Given the description of an element on the screen output the (x, y) to click on. 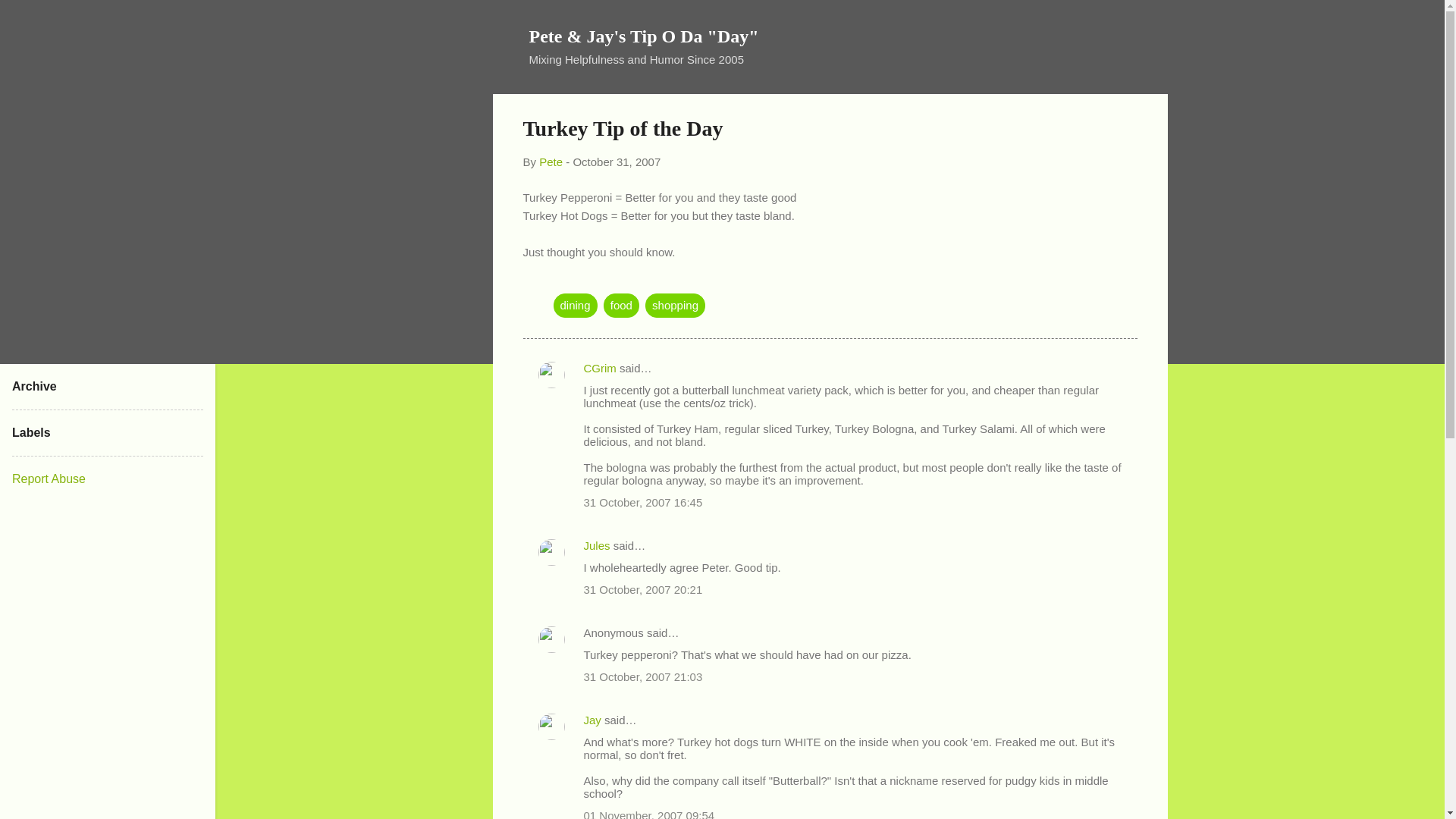
Search (29, 18)
shopping (674, 304)
permanent link (616, 161)
author profile (550, 161)
October 31, 2007 (616, 161)
Jay (592, 719)
dining (574, 304)
Jules (596, 545)
31 October, 2007 20:21 (643, 589)
01 November, 2007 09:54 (648, 814)
comment permalink (643, 502)
31 October, 2007 16:45 (643, 502)
food (621, 304)
Pete (550, 161)
31 October, 2007 21:03 (643, 676)
